Given the description of an element on the screen output the (x, y) to click on. 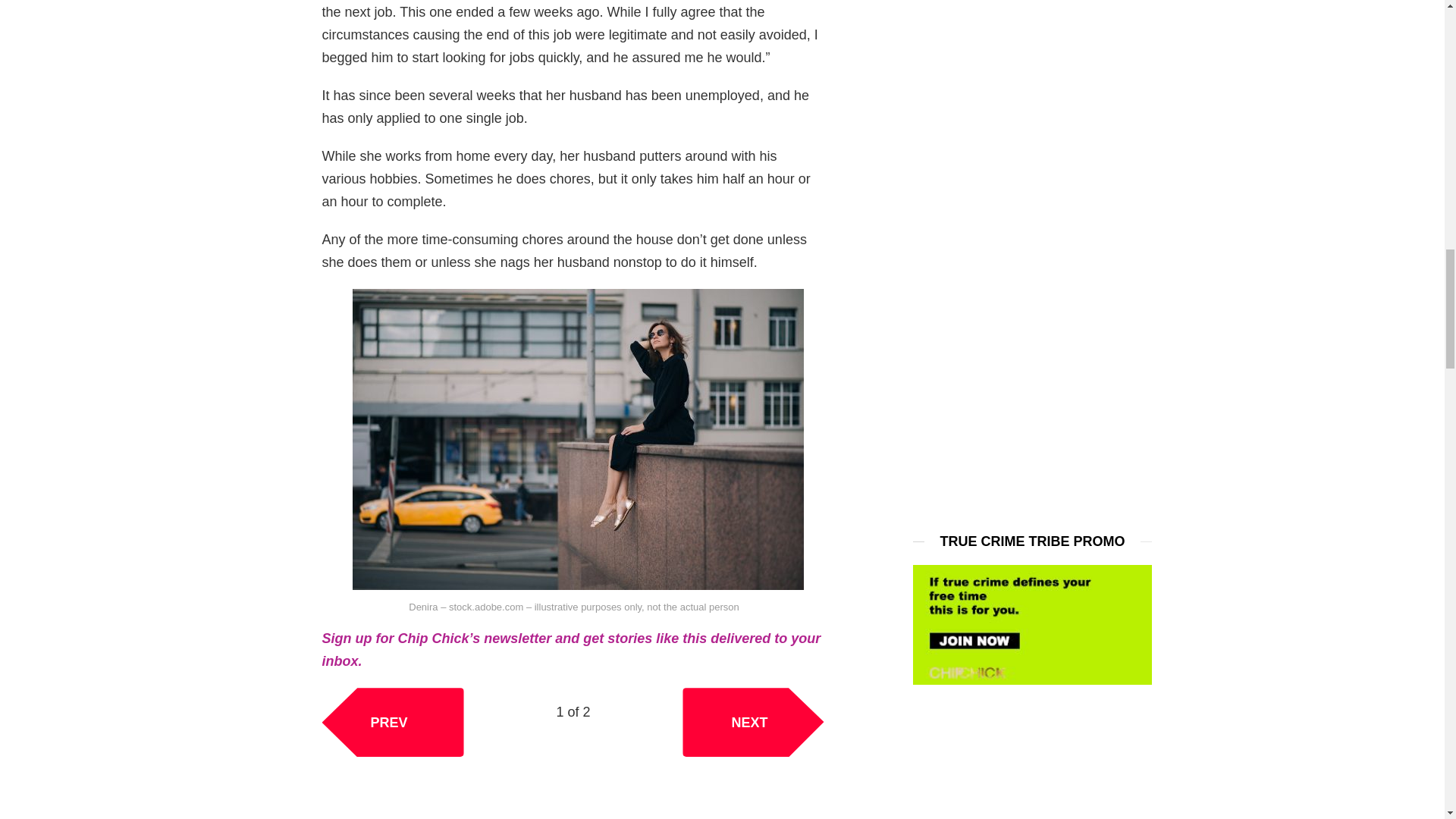
NEXT (753, 721)
PREV (392, 721)
